Given the description of an element on the screen output the (x, y) to click on. 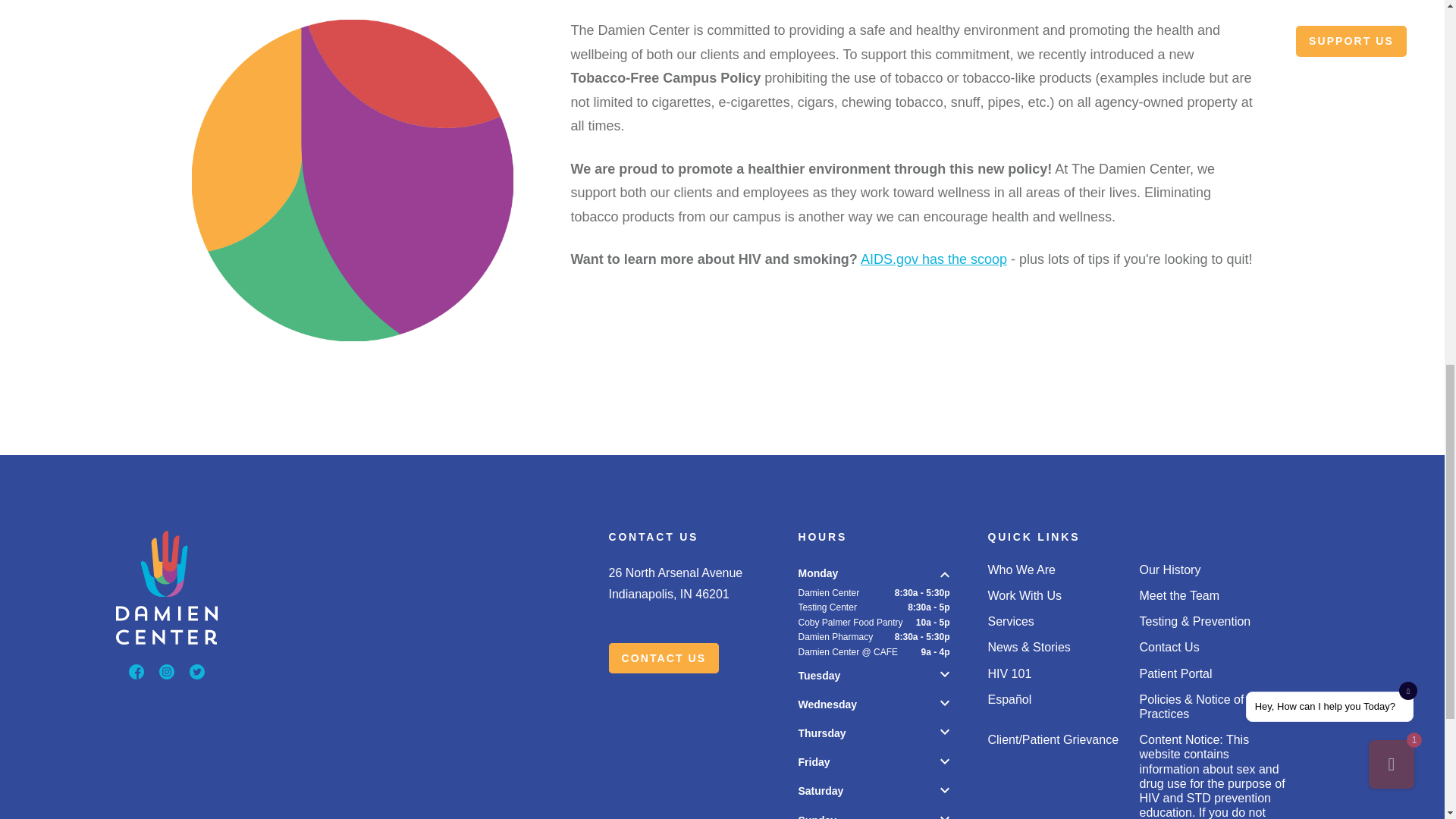
Facebook Logo (136, 671)
LinkedIn Logo (197, 671)
Instagram Logo (166, 671)
